Given the description of an element on the screen output the (x, y) to click on. 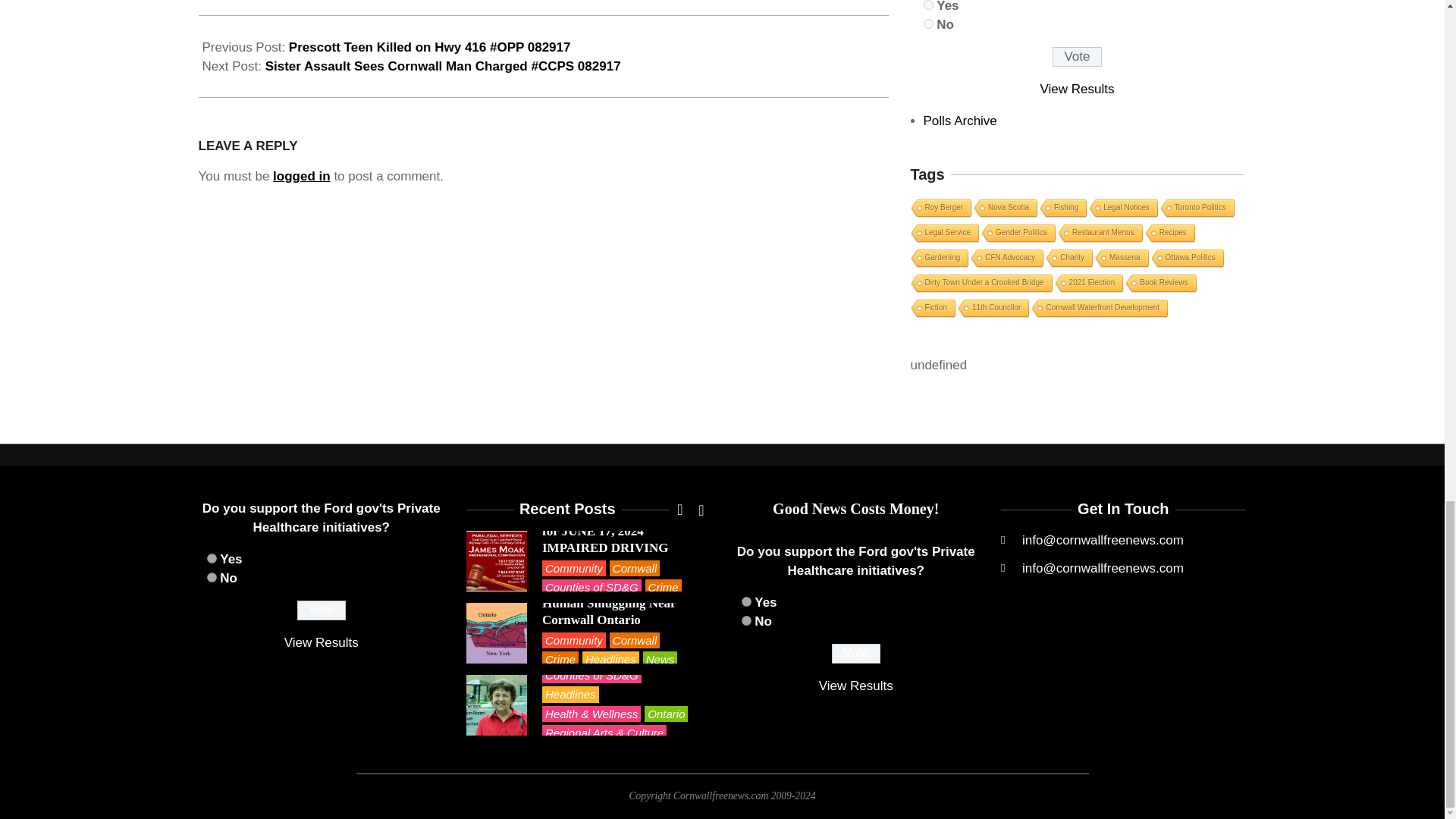
1777 (210, 577)
   Vote    (855, 653)
1776 (210, 558)
   Vote    (1076, 56)
1777 (746, 620)
1776 (746, 601)
View Results Of This Poll (855, 685)
1762 (928, 4)
1763 (928, 23)
View Results Of This Poll (1078, 88)
